Given the description of an element on the screen output the (x, y) to click on. 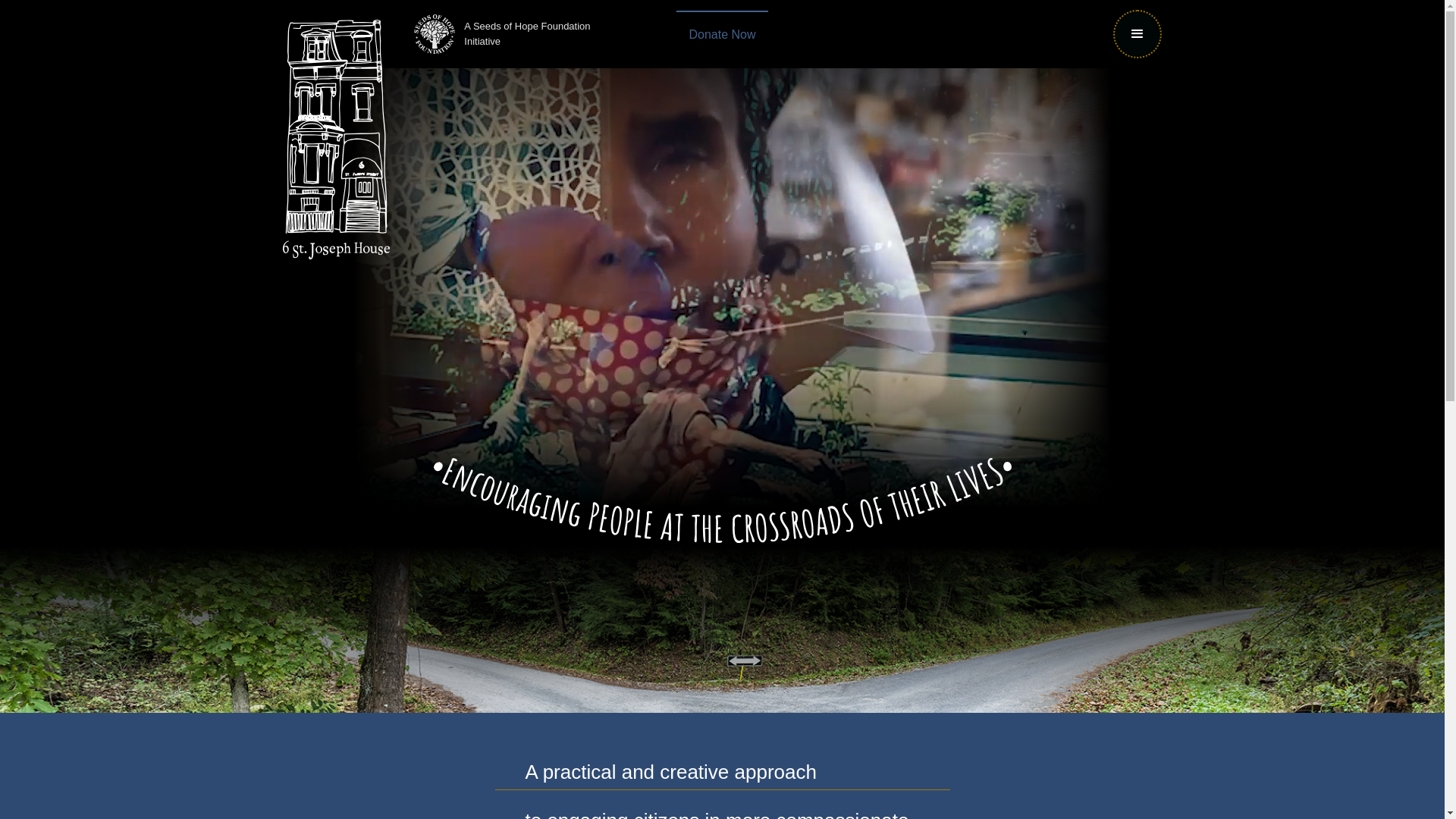
Donate Now Element type: text (721, 33)
